Given the description of an element on the screen output the (x, y) to click on. 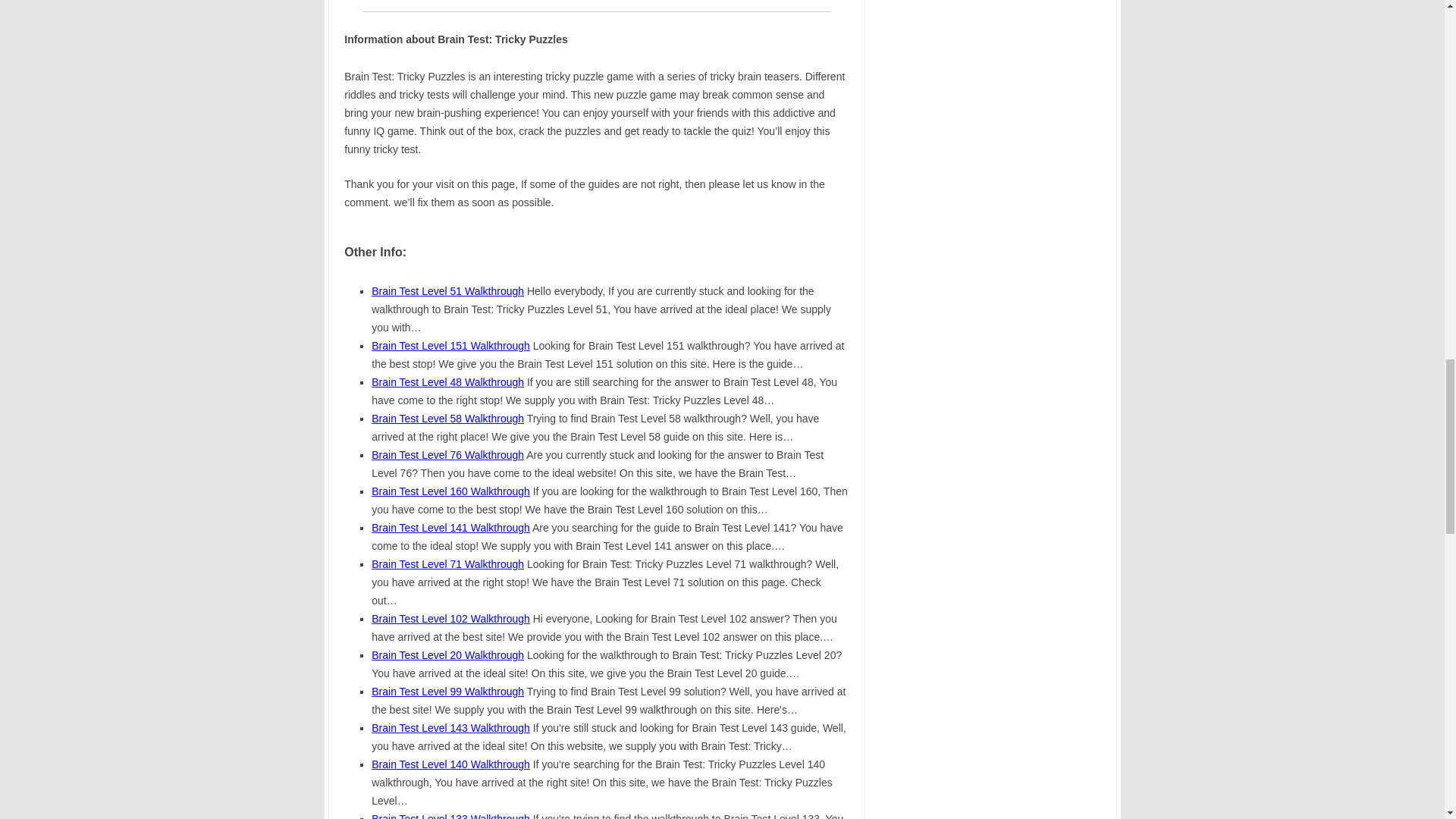
Brain Test Level 20 Walkthrough (447, 654)
Brain Test Level 141 Walkthrough (450, 527)
Brain Test Level 99 Walkthrough (447, 691)
Brain Test Level 76 Walkthrough (447, 454)
Brain Test Level 133 Walkthrough (450, 816)
Brain Test Level 140 Walkthrough (450, 764)
Brain Test Level 160 Walkthrough (450, 491)
Brain Test Level 143 Walkthrough (450, 727)
Brain Test Level 102 Walkthrough (450, 618)
Brain Test Level 58 Walkthrough (447, 418)
Brain Test Level 51 Walkthrough (447, 291)
Brain Test Level 151 Walkthrough (450, 345)
Brain Test Level 48 Walkthrough (447, 381)
Brain Test Level 71 Walkthrough (447, 563)
